Given the description of an element on the screen output the (x, y) to click on. 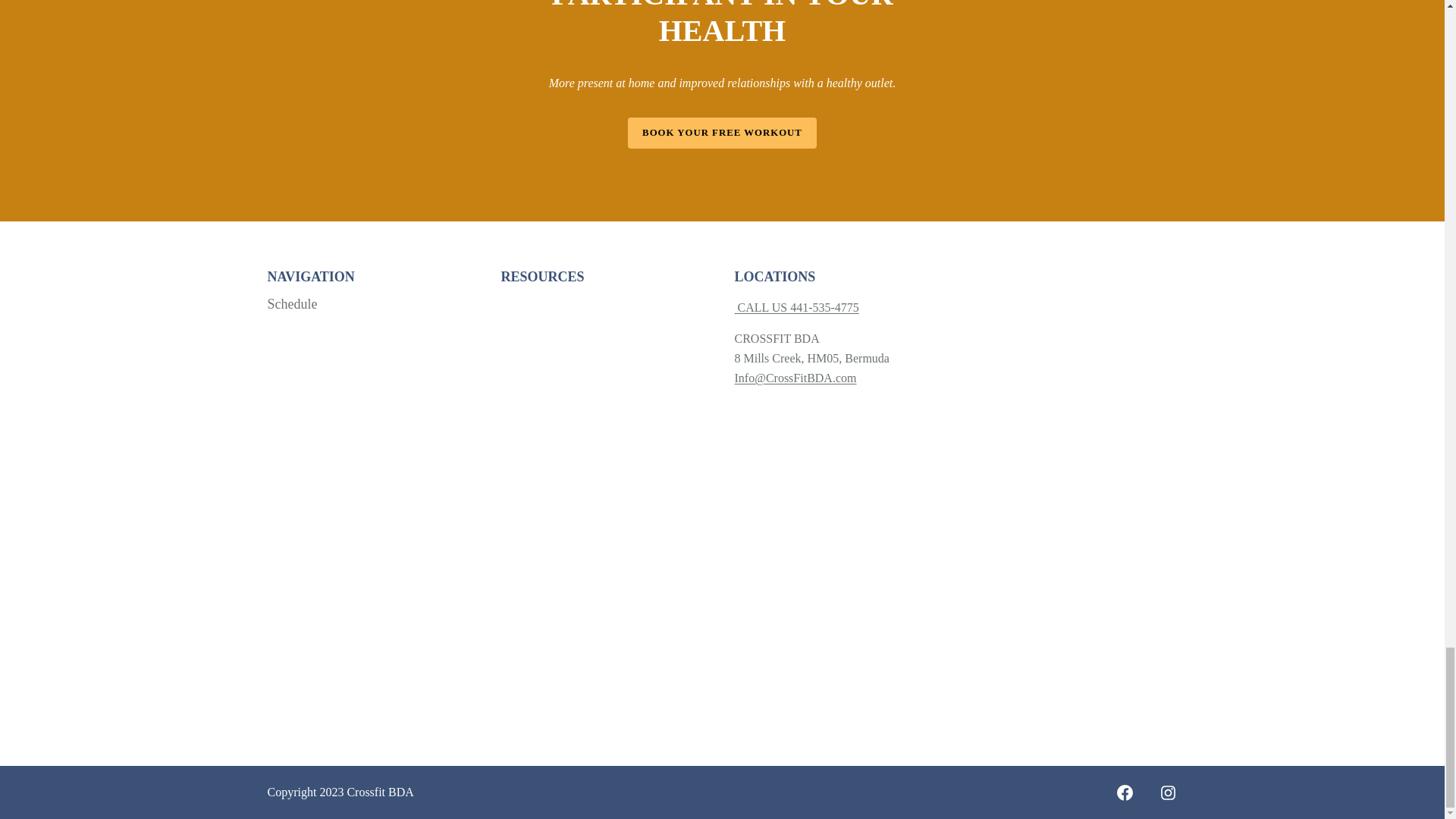
Schedule (291, 304)
BOOK YOUR FREE WORKOUT (721, 133)
 CALL US 441-535-4775 (796, 307)
